Given the description of an element on the screen output the (x, y) to click on. 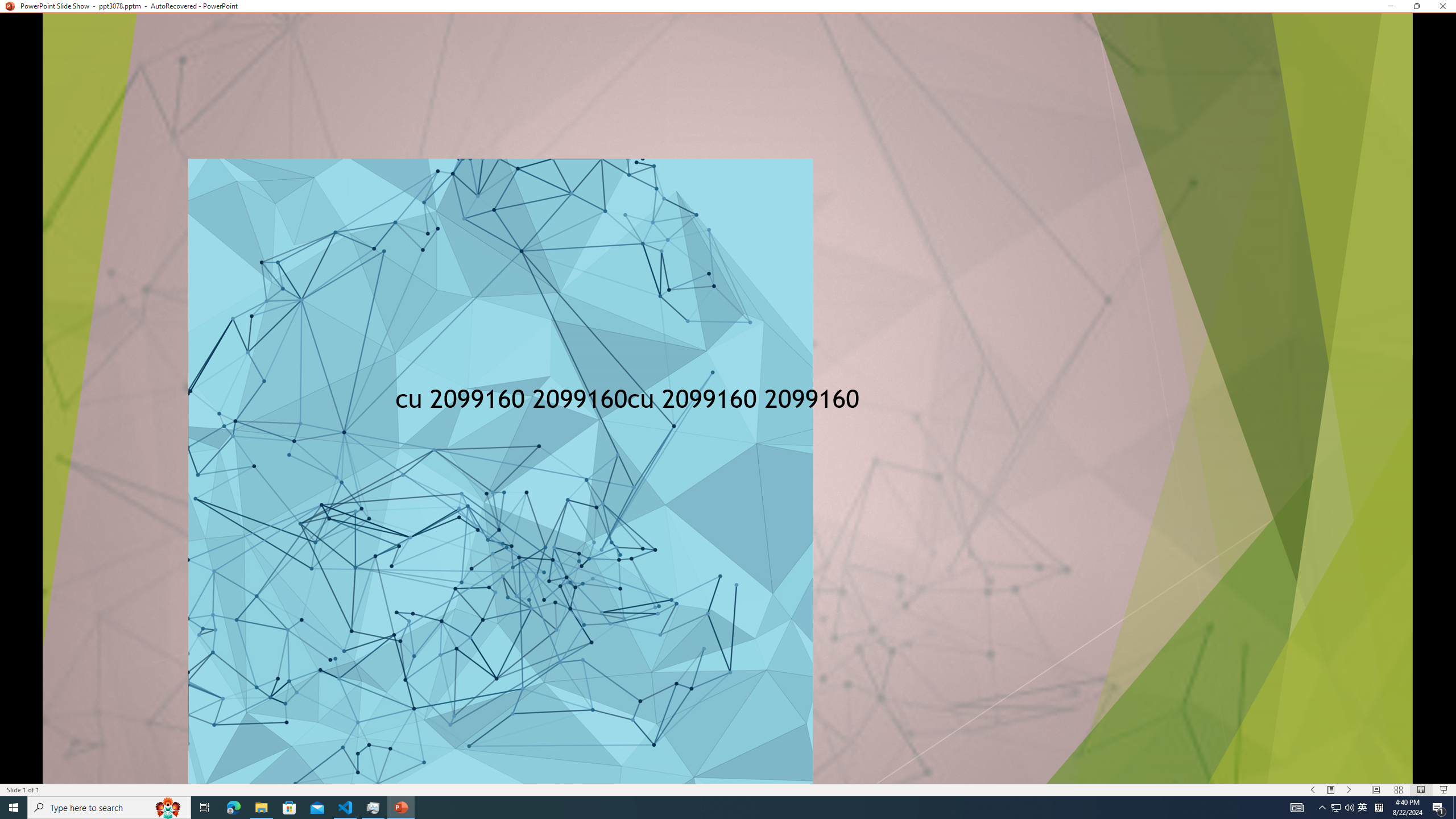
Slide Show Previous On (1313, 790)
Slide Show Next On (1349, 790)
Menu On (1331, 790)
